Given the description of an element on the screen output the (x, y) to click on. 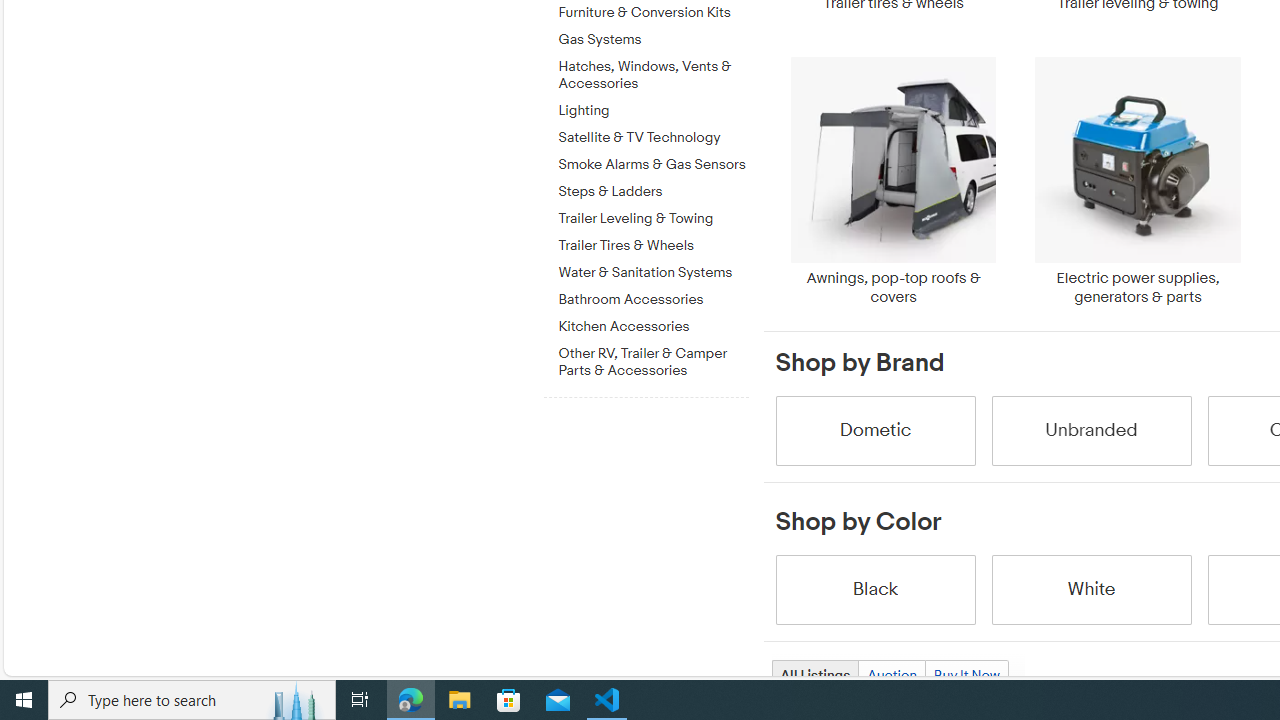
Lighting (653, 111)
Satellite & TV Technology (653, 134)
Bathroom Accessories (653, 296)
Dometic (874, 430)
All Listings (814, 674)
Auction (891, 674)
Gas Systems (653, 39)
Trailer Leveling & Towing (653, 219)
Kitchen Accessories (653, 323)
Furniture & Conversion Kits (653, 13)
Trailer Leveling & Towing (653, 215)
Buy It Now (966, 674)
Awnings, pop-top roofs & covers (893, 181)
Steps & Ladders (653, 188)
